Given the description of an element on the screen output the (x, y) to click on. 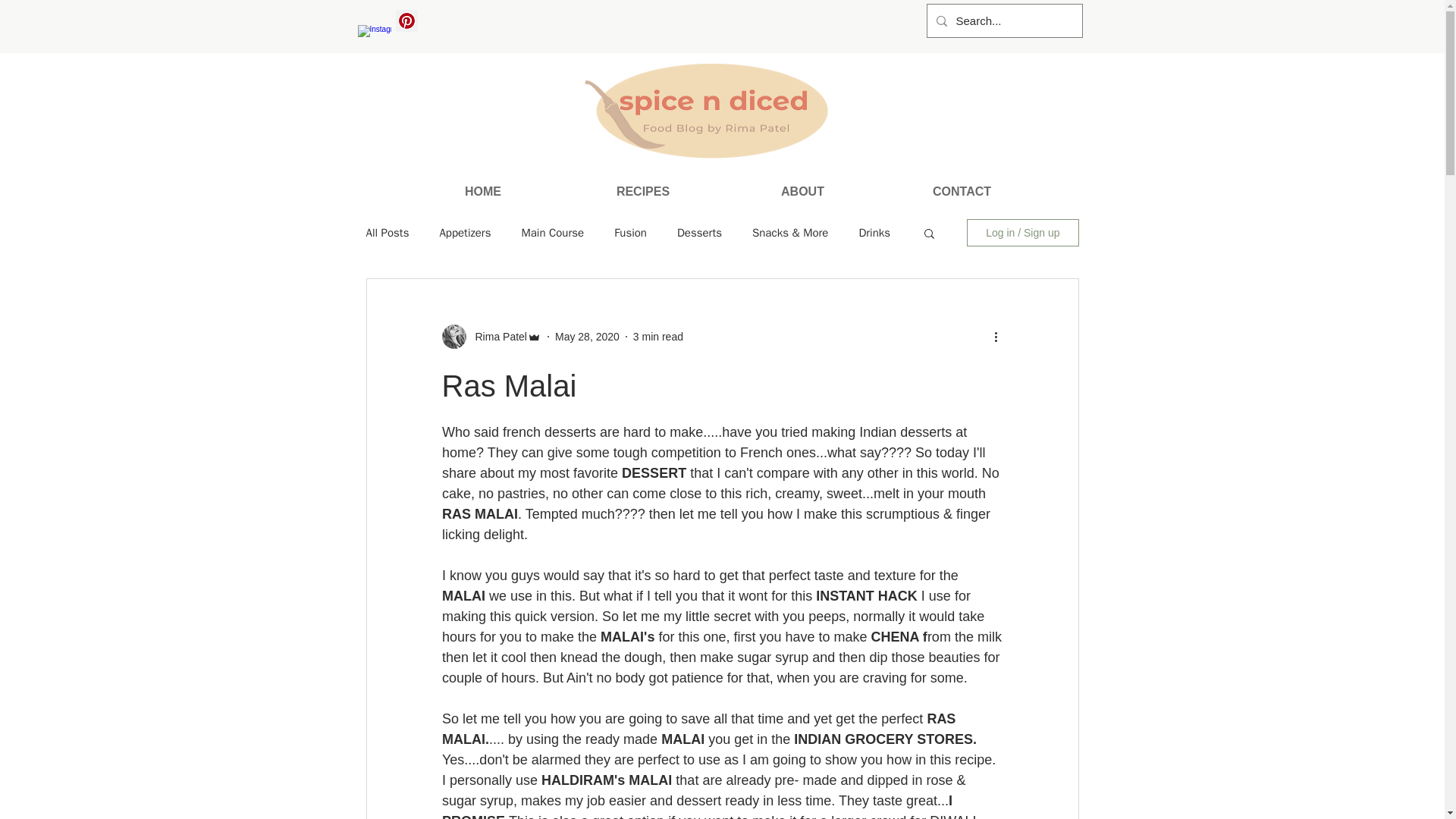
May 28, 2020 (587, 336)
3 min read (657, 336)
Drinks (874, 233)
Fusion (630, 233)
CONTACT (962, 191)
Desserts (699, 233)
Main Course (552, 233)
RECIPES (642, 191)
All Posts (387, 233)
ABOUT (802, 191)
Appetizers (464, 233)
Rima Patel (495, 336)
HOME (483, 191)
